Given the description of an element on the screen output the (x, y) to click on. 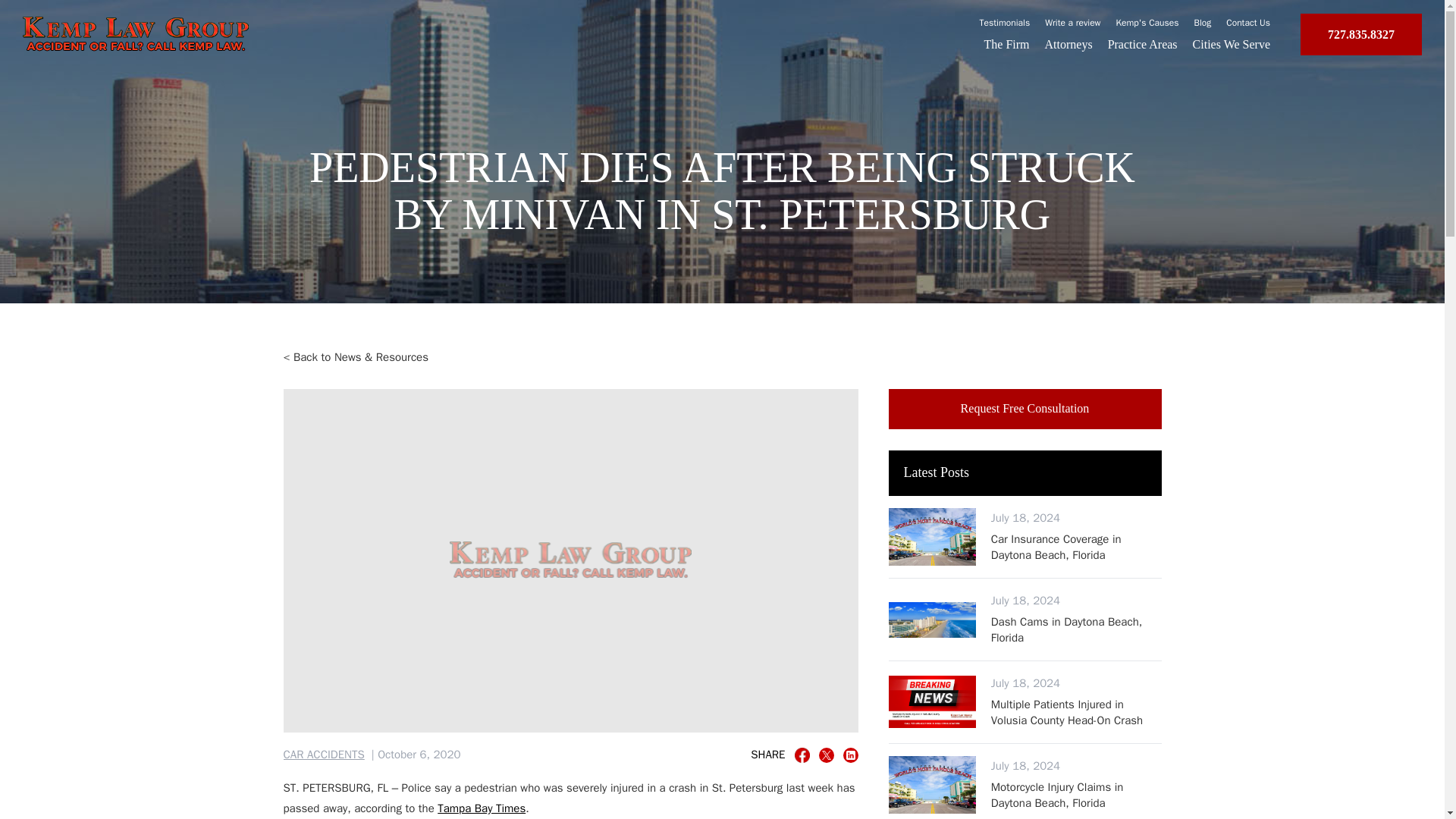
Write a review (1072, 22)
Practice Areas (1142, 43)
727.835.8327 (1361, 34)
Kemp's Causes (1147, 22)
Tampa Bay Times (481, 807)
Multiple Patients Injured in Volusia County Head-On Crash (1076, 712)
Dash Cams in Daytona Beach, Florida (1076, 629)
Testimonials (1004, 22)
Contact Us (1247, 22)
Attorneys (1069, 43)
Share in Facebook (801, 754)
The Firm (1006, 43)
Car Insurance Coverage in Daytona Beach, Florida (1076, 546)
Blog (1202, 22)
